Given the description of an element on the screen output the (x, y) to click on. 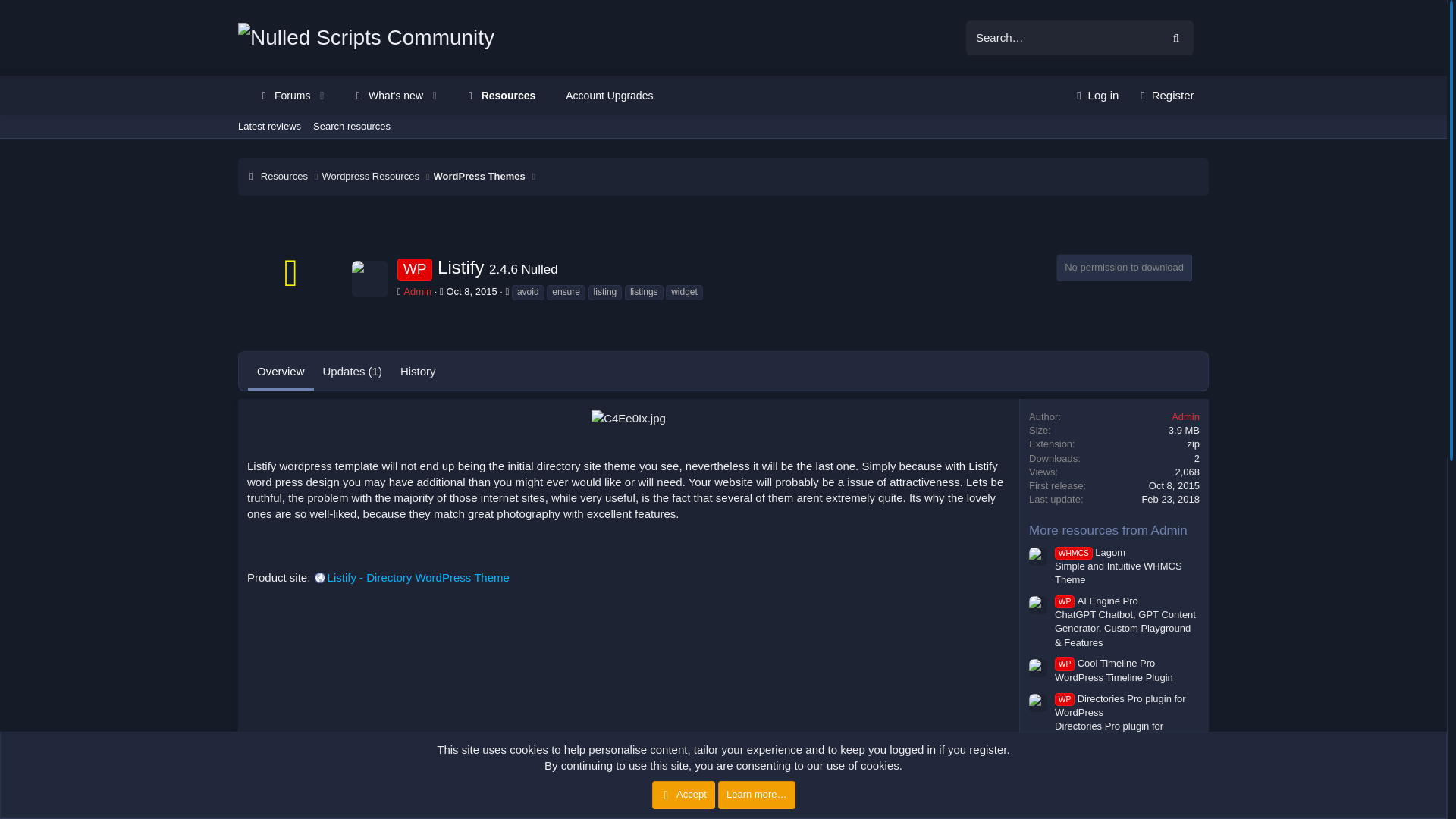
Forums (278, 95)
Oct 8, 2015 at 5:13 PM (1173, 485)
avoid (528, 292)
Latest reviews (450, 95)
Wordpress Resources (269, 126)
What's new (450, 95)
Oct 8, 2015 (370, 176)
Admin (382, 95)
Search resources (470, 291)
WordPress Themes (416, 291)
ensure (351, 126)
Oct 8, 2015 at 5:13 PM (479, 176)
